Given the description of an element on the screen output the (x, y) to click on. 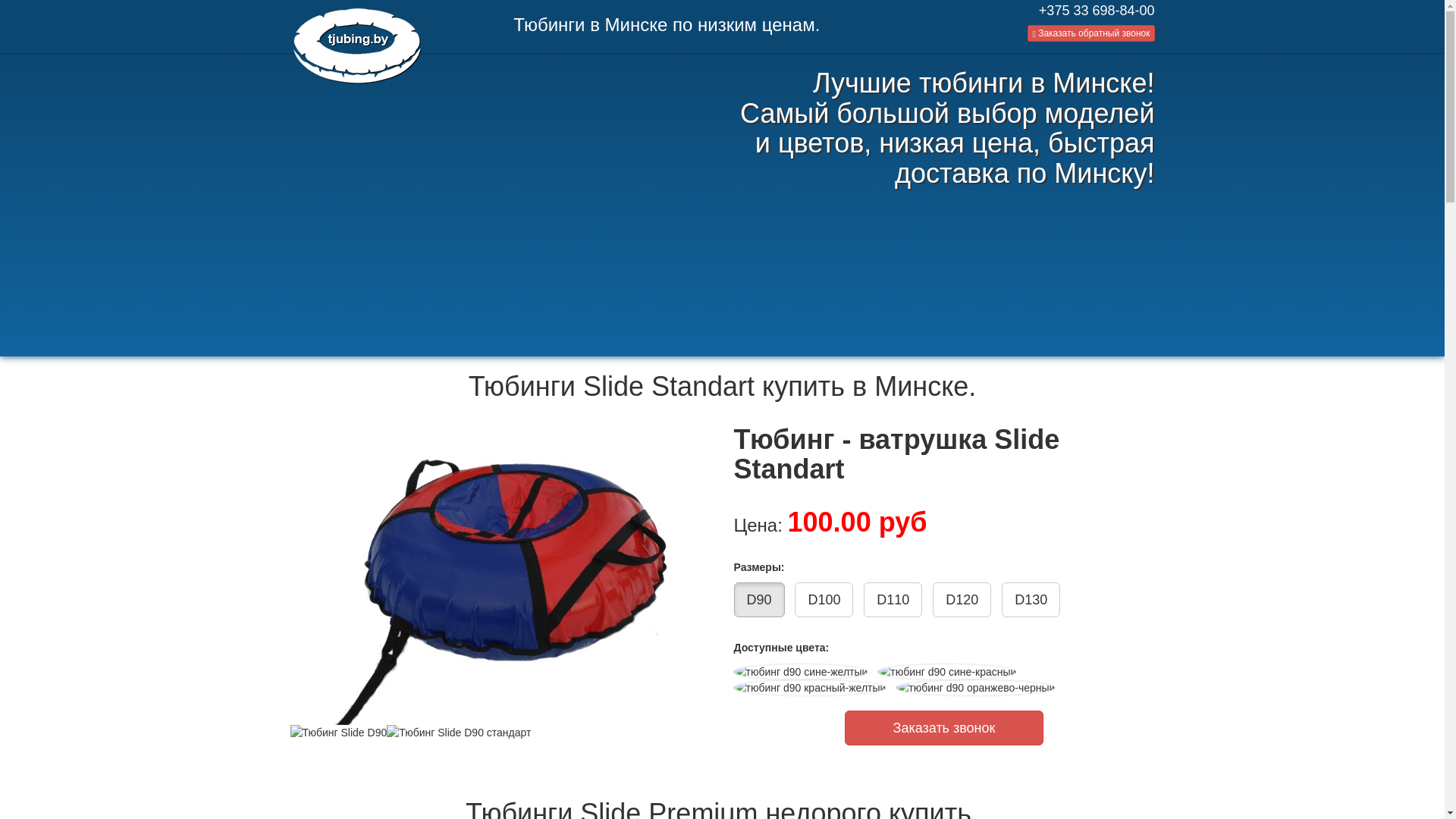
D130 Element type: text (1030, 599)
D100 Element type: text (823, 599)
D90 Element type: text (759, 599)
D120 Element type: text (961, 599)
D110 Element type: text (892, 599)
